Given the description of an element on the screen output the (x, y) to click on. 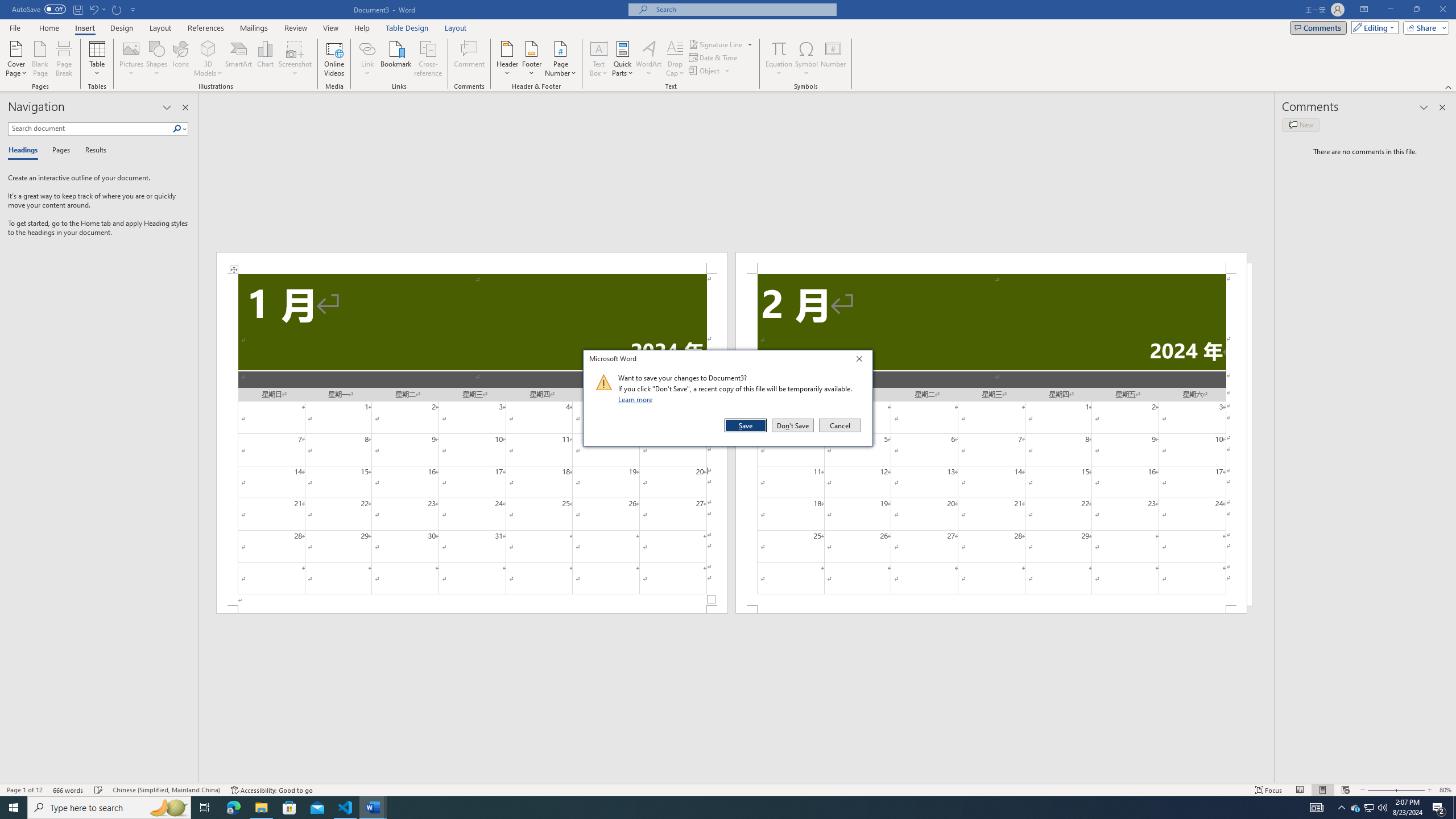
Header -Section 2- (991, 263)
Running applications (717, 807)
Equation (778, 58)
Signature Line (716, 44)
Table (97, 58)
Cover Page (16, 58)
Quick Parts (622, 58)
